Given the description of an element on the screen output the (x, y) to click on. 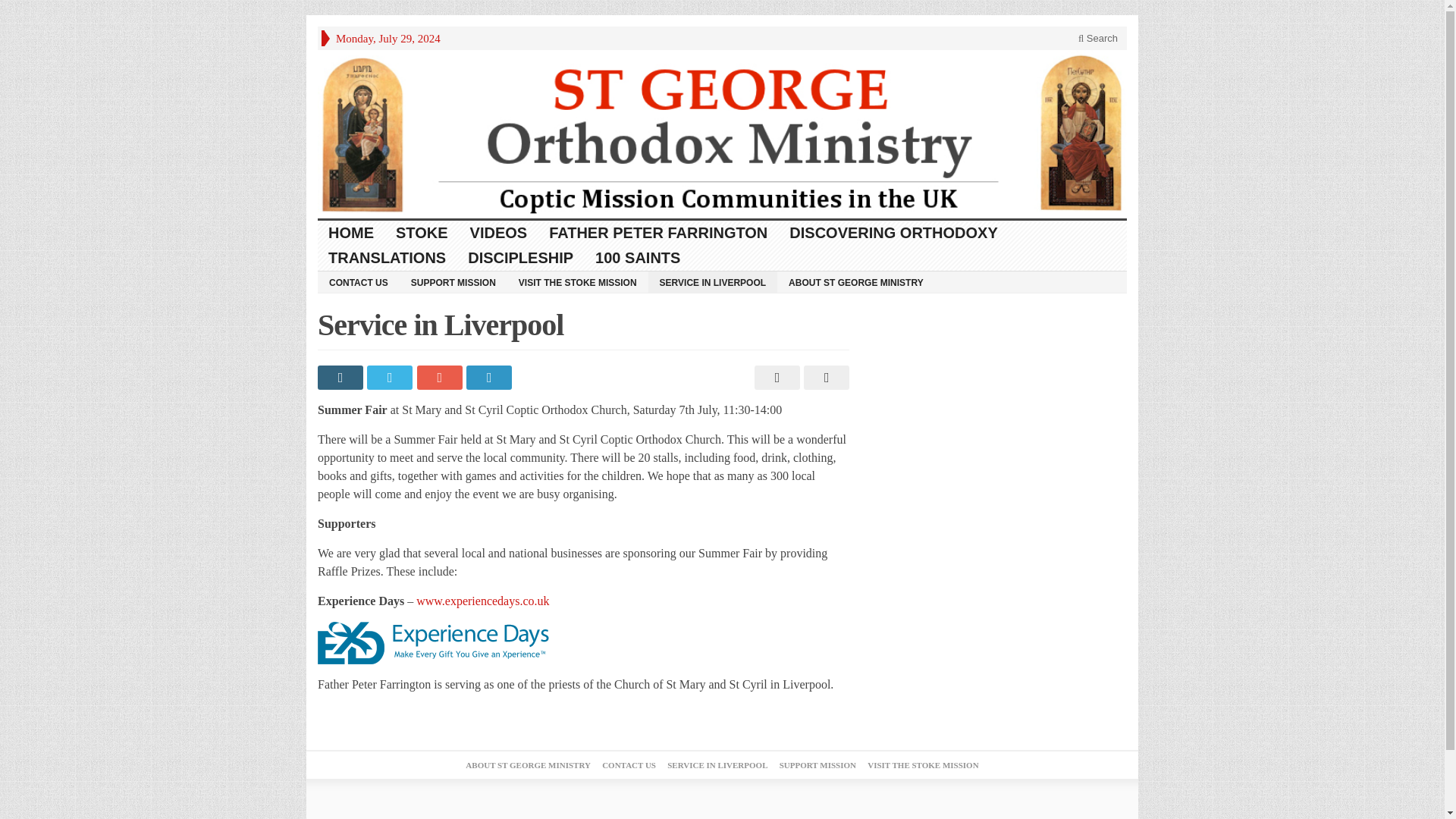
SUPPORT MISSION (452, 281)
VIDEOS (499, 232)
CONTACT US (357, 281)
Search (1097, 37)
HOME (351, 232)
VISIT THE STOKE MISSION (576, 281)
ABOUT ST GEORGE MINISTRY (855, 281)
TRANSLATIONS (387, 258)
100 SAINTS (638, 258)
STOKE (422, 232)
FATHER PETER FARRINGTON (658, 232)
SERVICE IN LIVERPOOL (712, 281)
DISCIPLESHIP (521, 258)
DISCOVERING ORTHODOXY (893, 232)
